Given the description of an element on the screen output the (x, y) to click on. 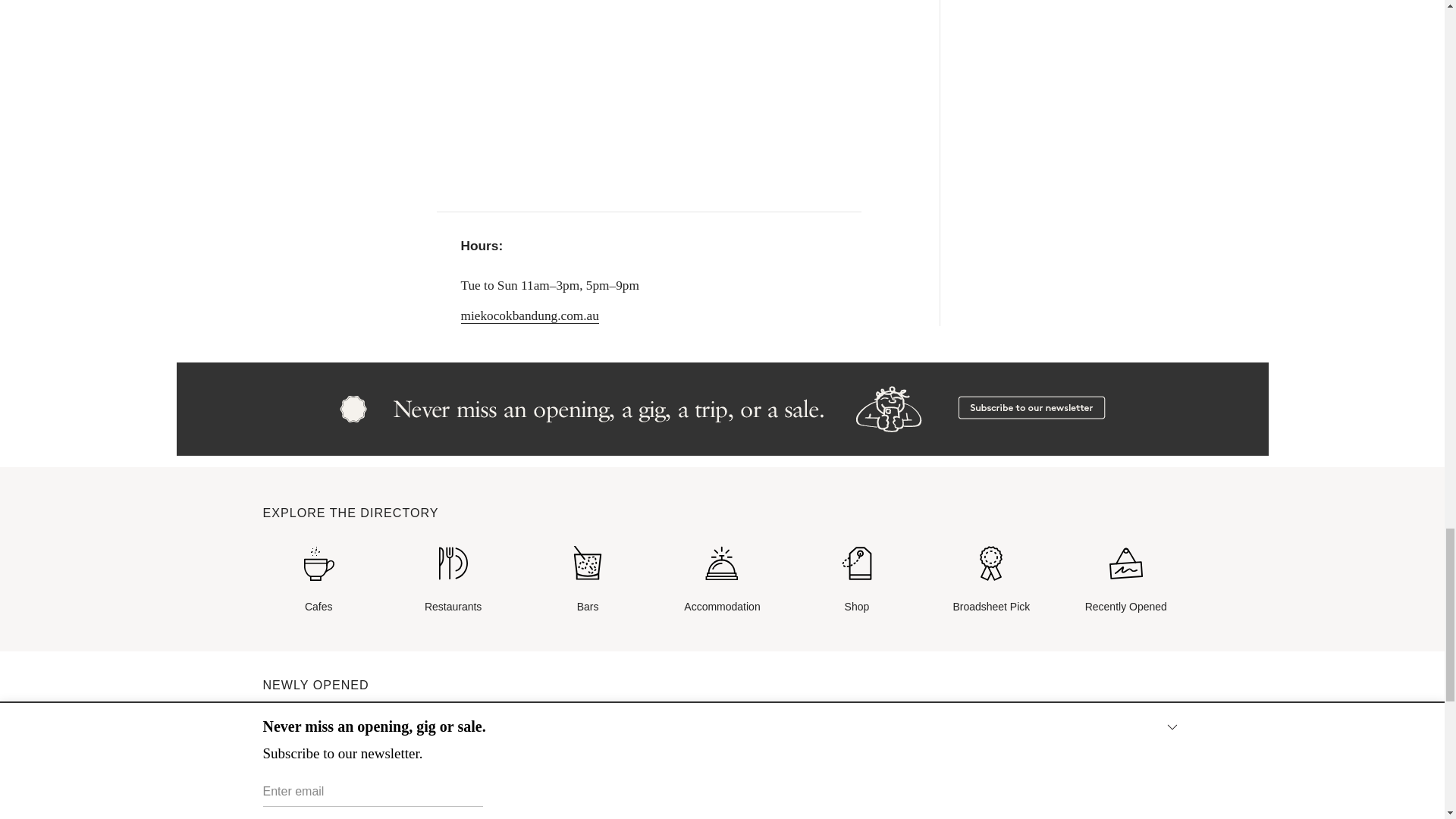
Accommodation (721, 580)
Shop (856, 580)
Restaurants (452, 580)
Broadsheet Pick (991, 580)
Cafes (318, 580)
Bars (587, 580)
Recently Opened (1125, 580)
